Given the description of an element on the screen output the (x, y) to click on. 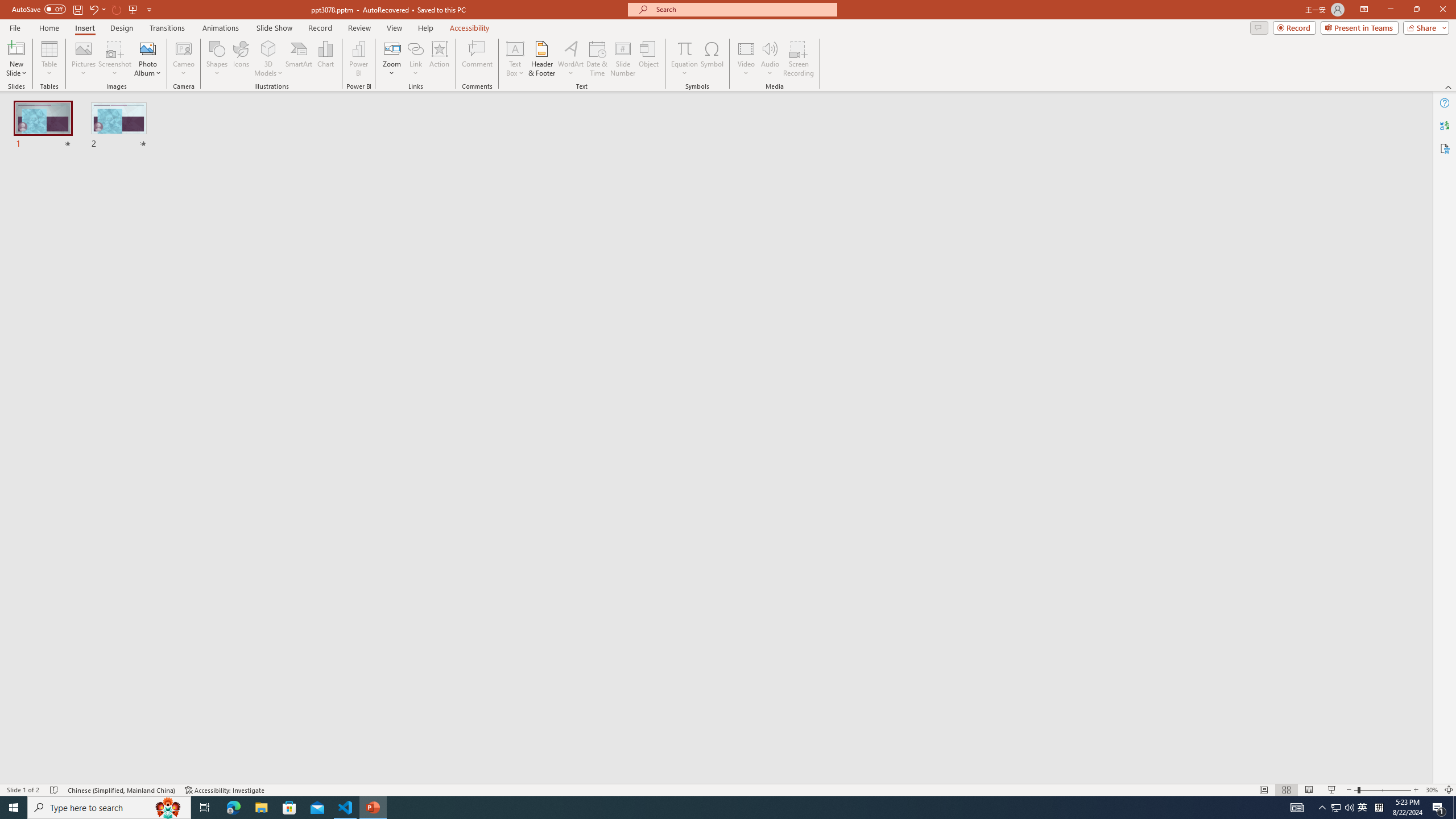
Edge (516, 46)
Run and Debug (Ctrl+Shift+D) (76, 353)
SJTUvpn (440, 78)
Tab actions (537, 183)
Manage (76, 712)
644553698@qq.com (1094, 382)
